Given the description of an element on the screen output the (x, y) to click on. 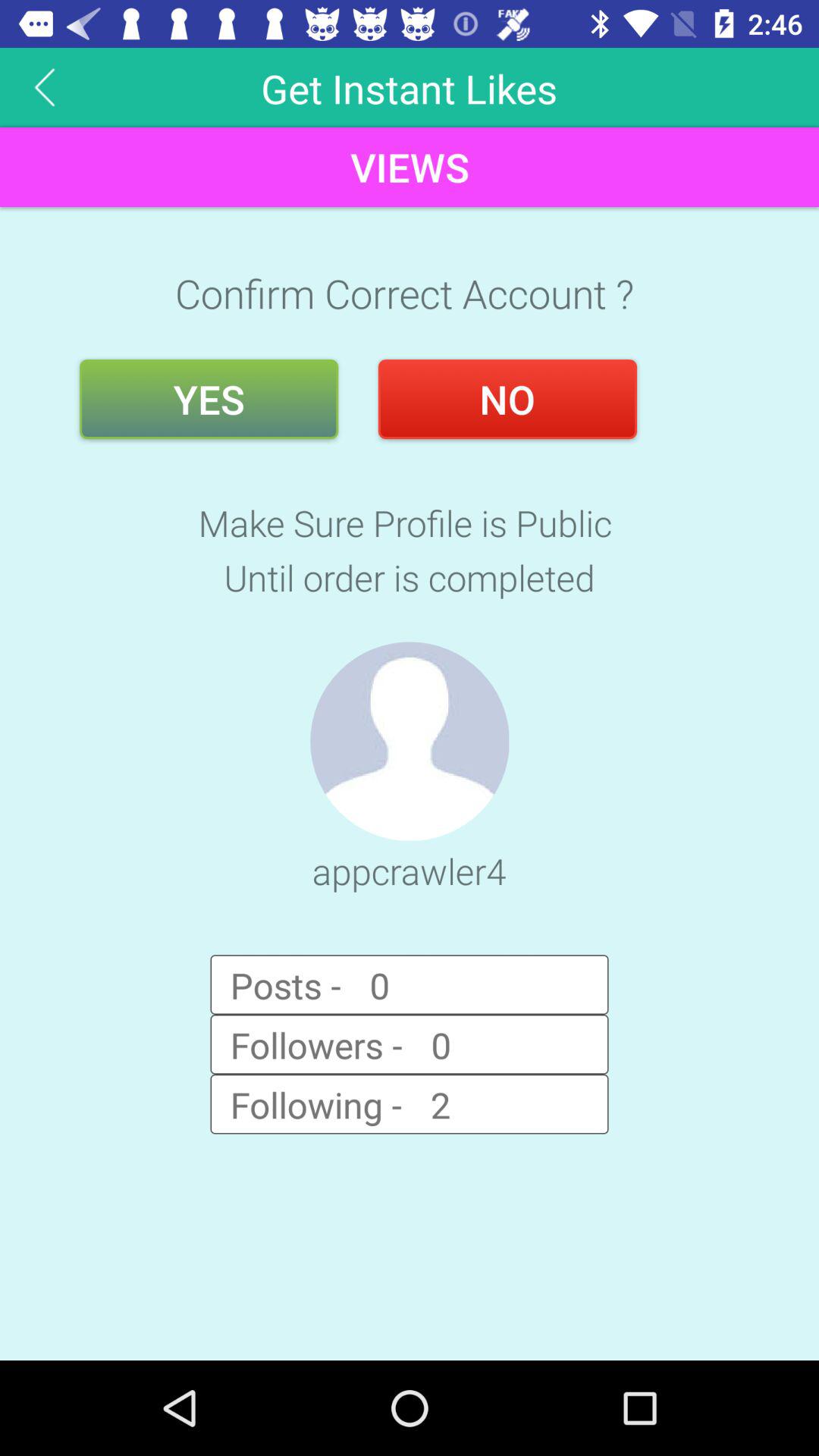
choose the icon below the confirm correct account ?  icon (507, 399)
